Given the description of an element on the screen output the (x, y) to click on. 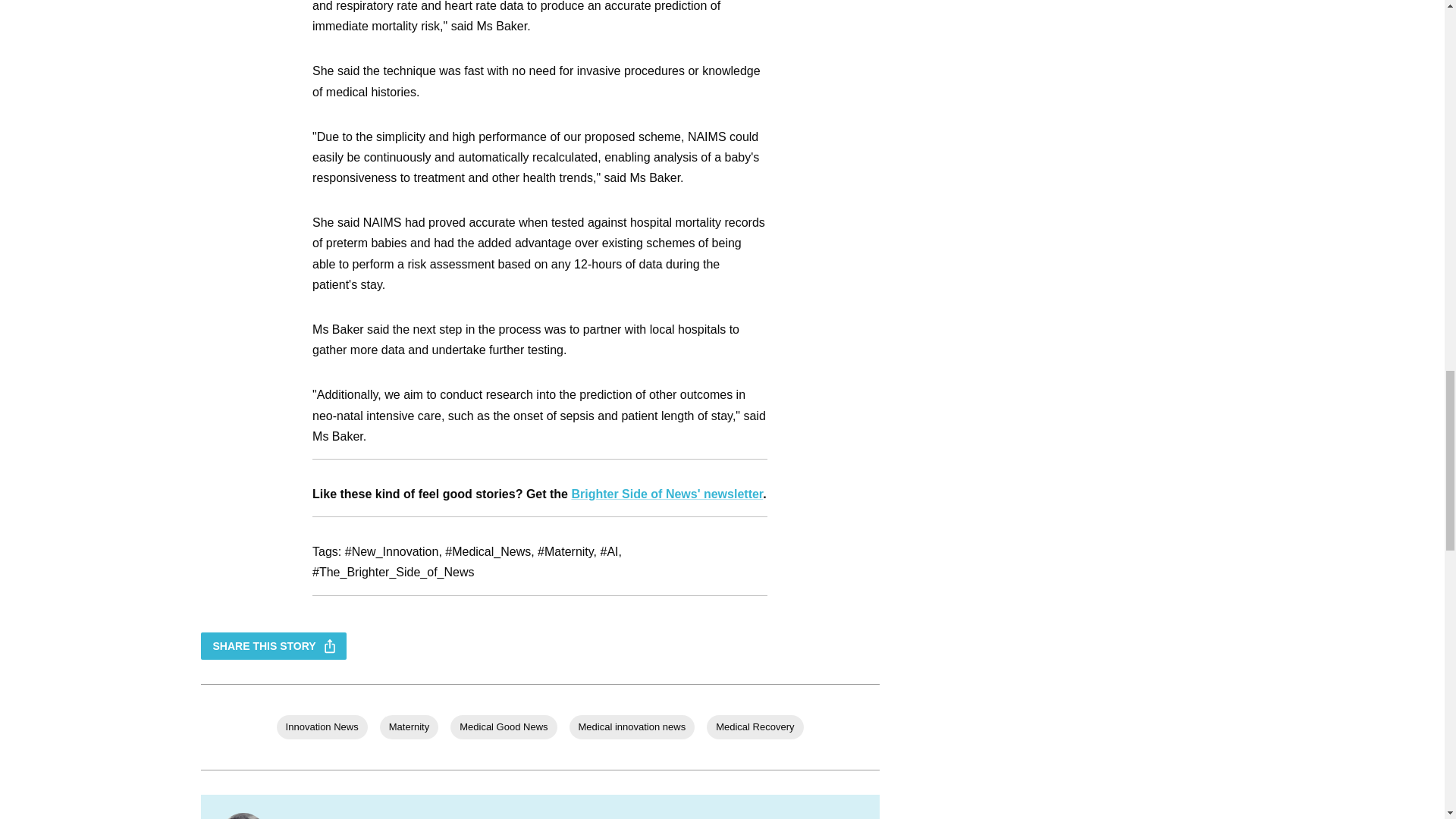
Maternity (409, 726)
Medical Good News (502, 726)
Medical innovation news (632, 726)
Medical Recovery (754, 726)
SHARE THIS STORY (273, 646)
Brighter Side of News' newsletter (666, 493)
Innovation News (322, 726)
